Given the description of an element on the screen output the (x, y) to click on. 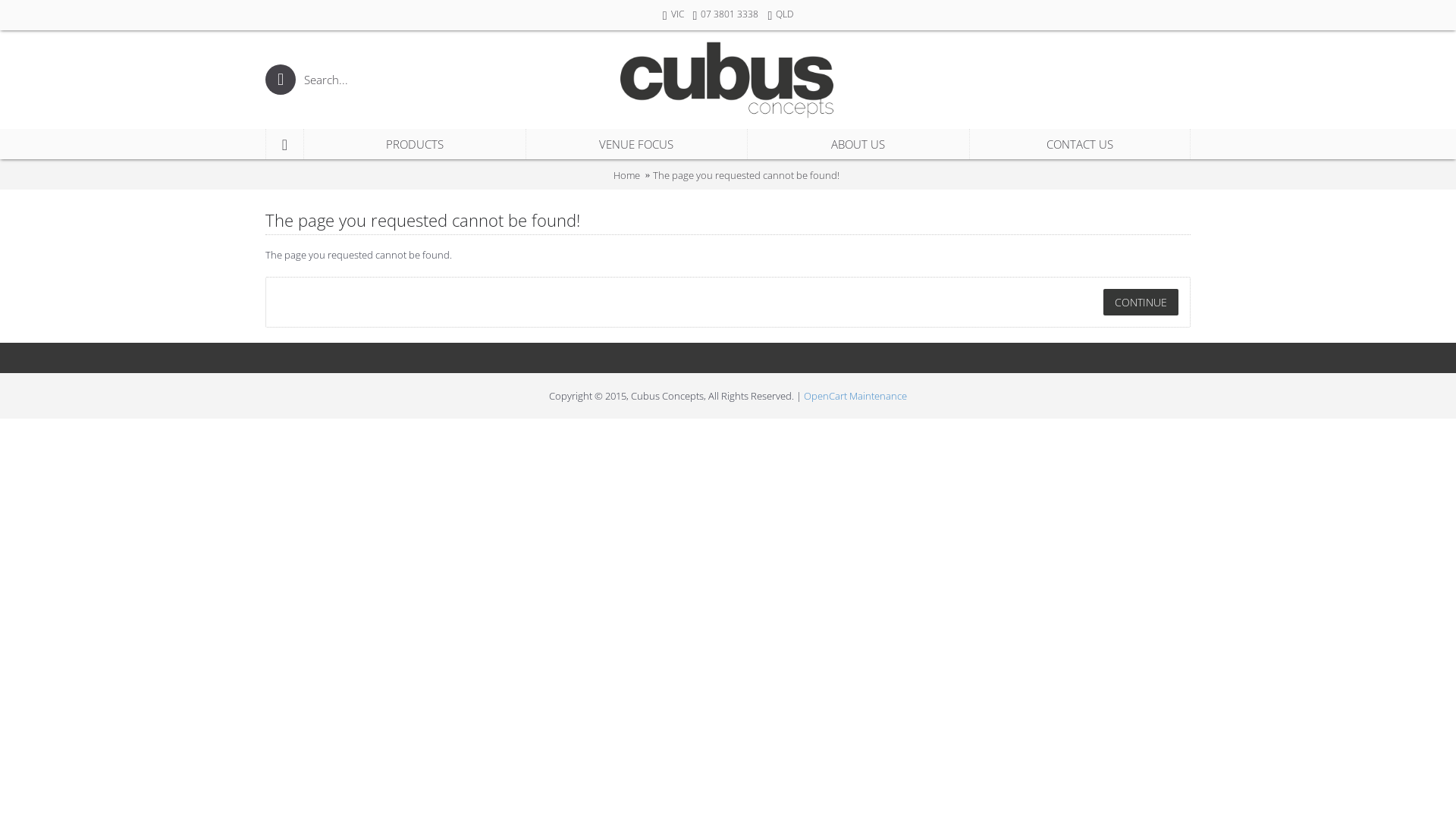
QLD Element type: text (779, 15)
VIC Element type: text (673, 15)
OpenCart Maintenance Element type: text (854, 395)
Cubus Concepts Element type: hover (727, 79)
PRODUCTS Element type: text (414, 143)
CONTACT US Element type: text (1079, 143)
CONTINUE Element type: text (1140, 301)
Home Element type: text (626, 174)
07 3801 3338 Element type: text (725, 15)
VENUE FOCUS Element type: text (636, 143)
The page you requested cannot be found! Element type: text (745, 174)
ABOUT US Element type: text (858, 143)
